Given the description of an element on the screen output the (x, y) to click on. 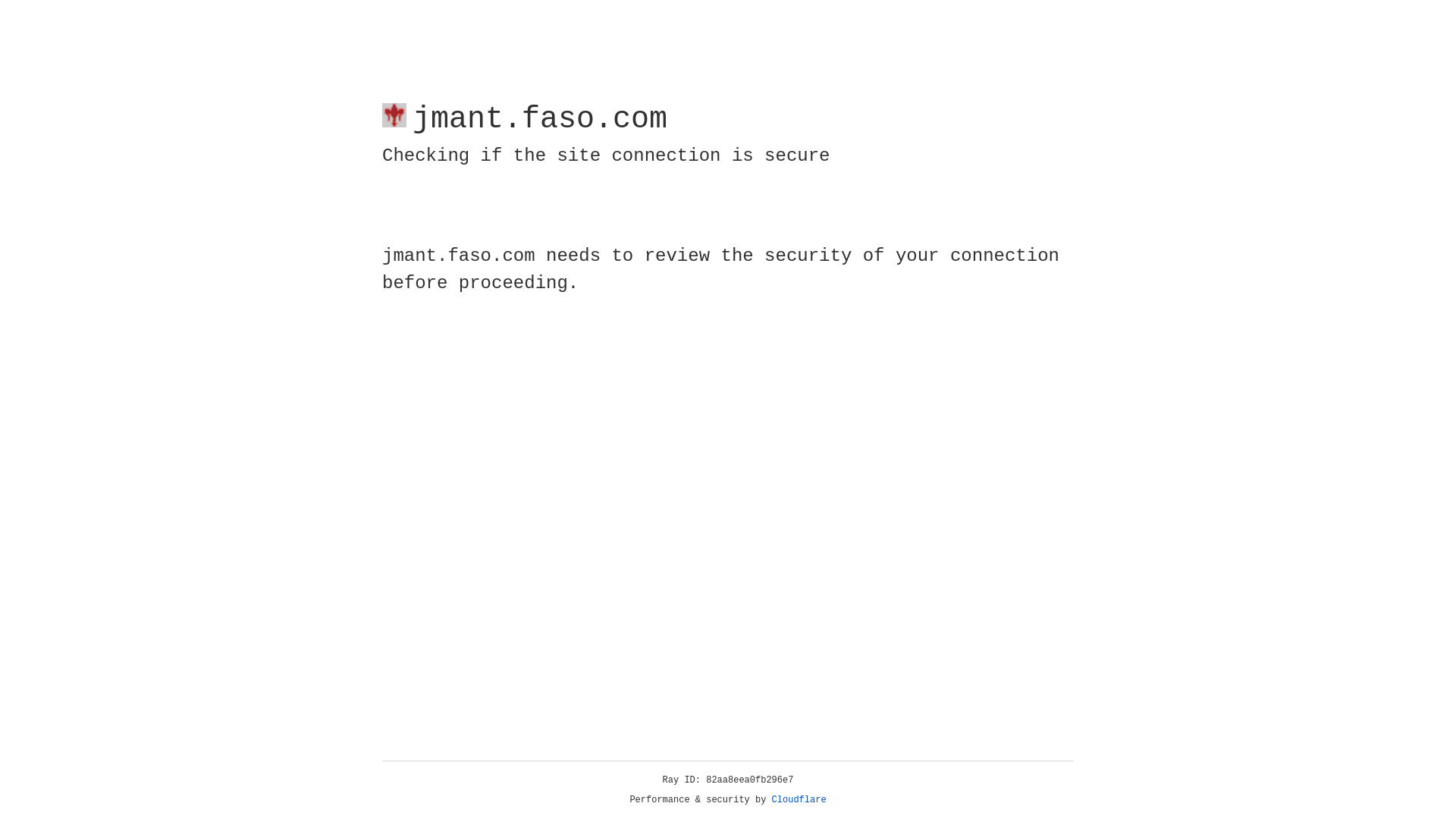
Cloudflare Element type: text (798, 799)
